Given the description of an element on the screen output the (x, y) to click on. 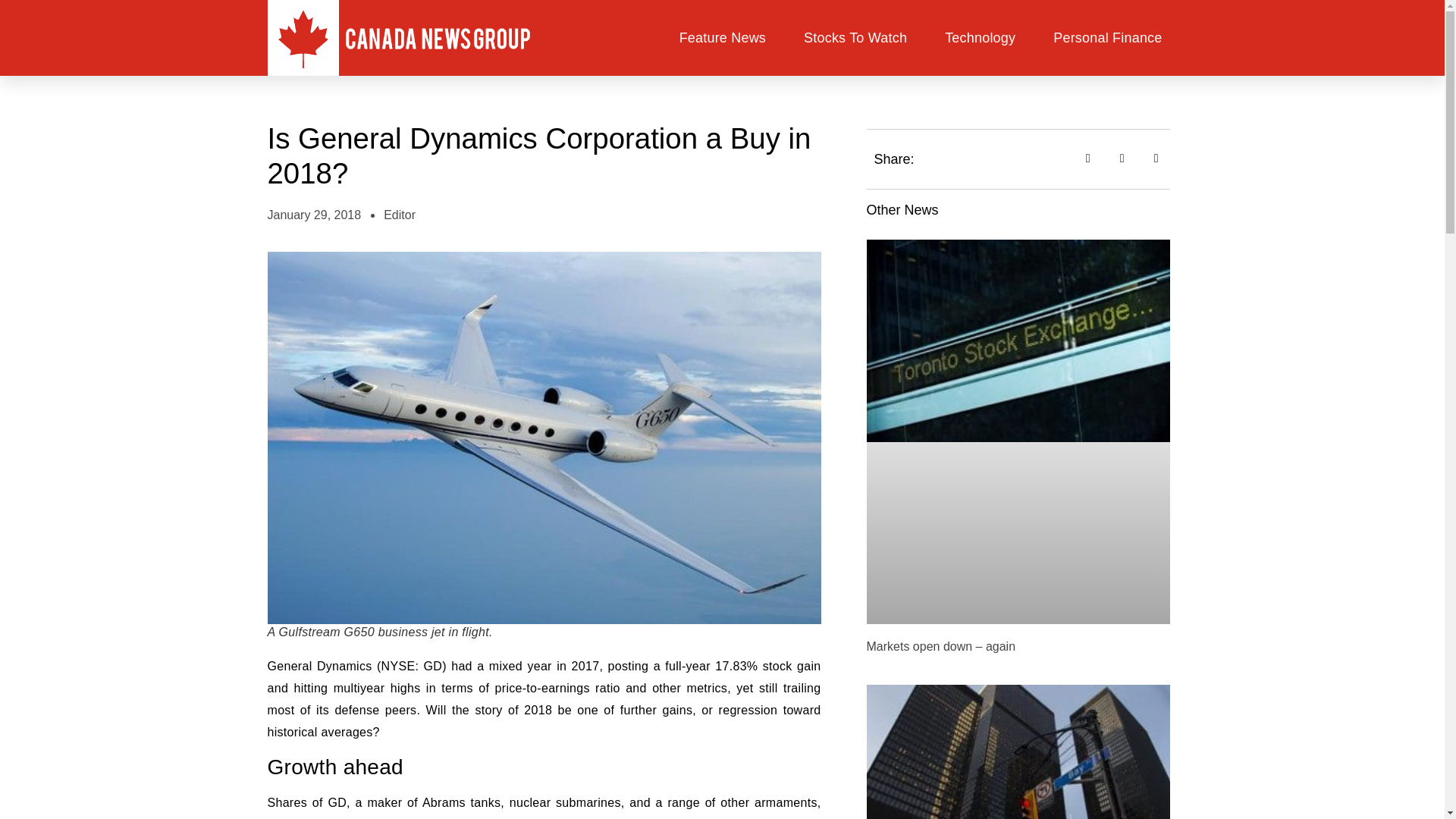
Feature News (722, 38)
Stocks To Watch (855, 38)
Editor (399, 215)
Personal Finance (1106, 38)
January 29, 2018 (313, 215)
Technology (979, 38)
